Given the description of an element on the screen output the (x, y) to click on. 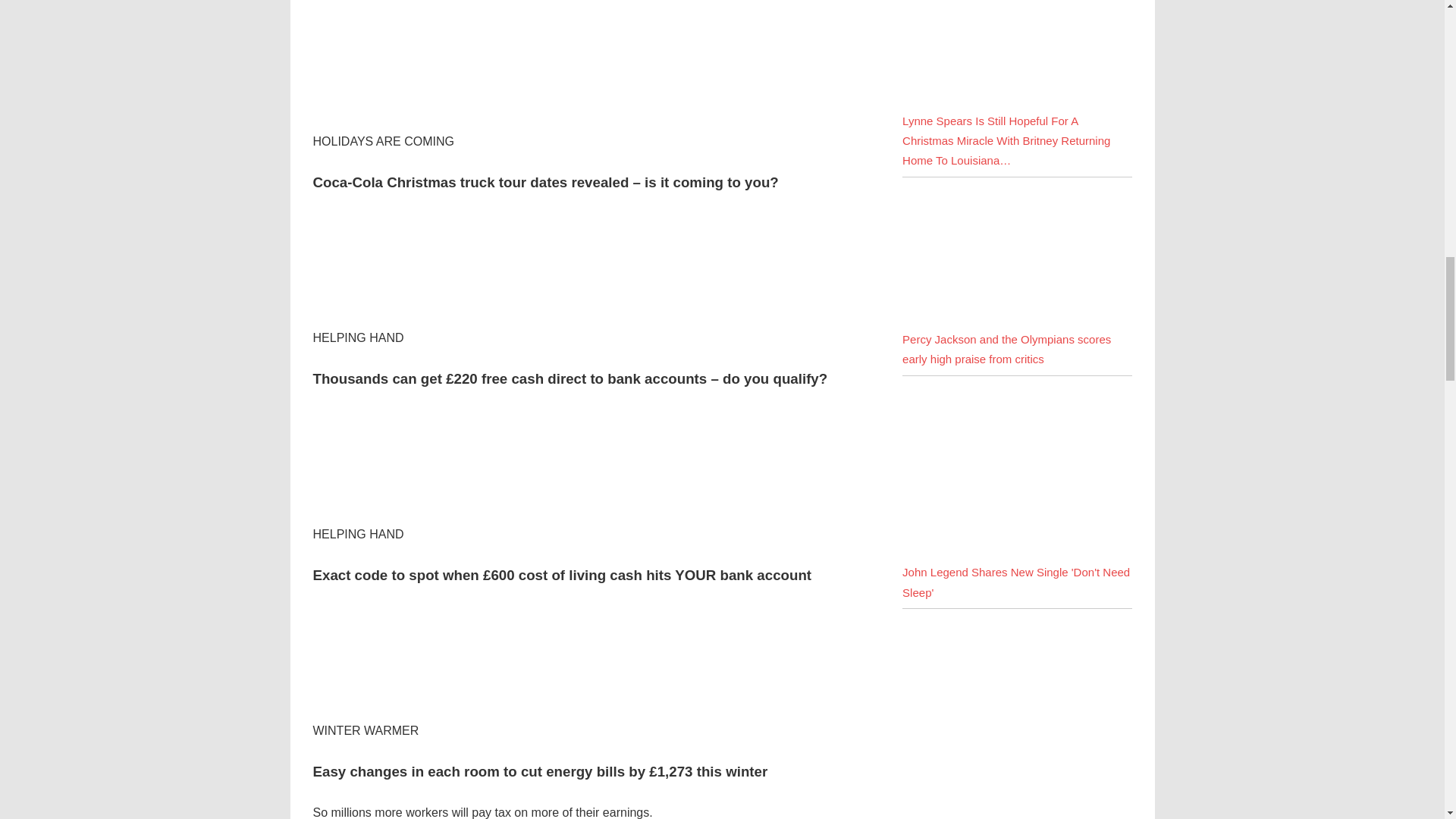
John Legend Shares New Single 'Don't Need Sleep' (1015, 581)
